Given the description of an element on the screen output the (x, y) to click on. 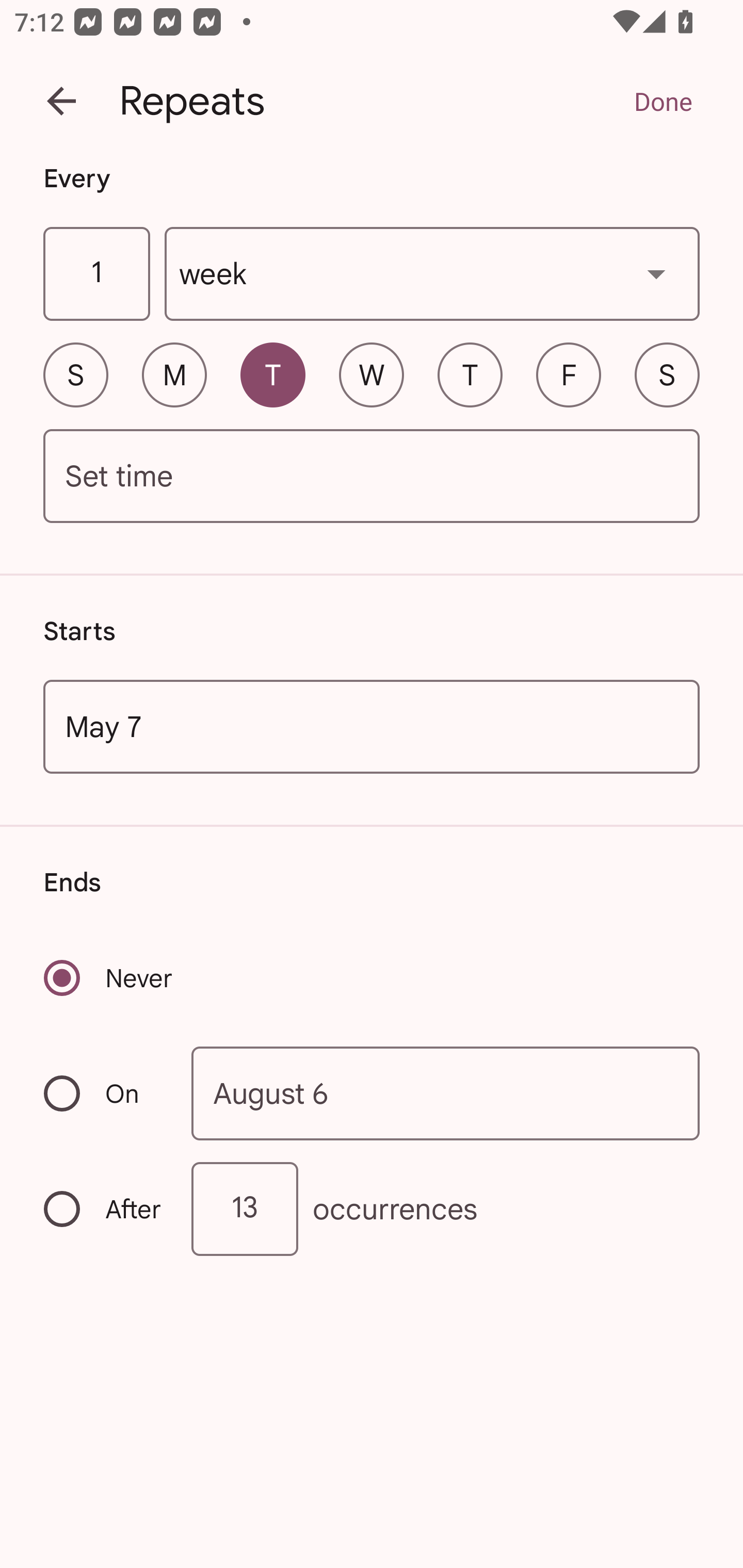
Back (61, 101)
Done (663, 101)
1 (96, 274)
week (431, 274)
Show dropdown menu (655, 273)
S Sunday (75, 374)
M Monday (173, 374)
T Tuesday, selected (272, 374)
W Wednesday (371, 374)
T Thursday (469, 374)
F Friday (568, 374)
S Saturday (666, 374)
Set time (371, 476)
May 7 (371, 726)
Never Recurrence never ends (109, 978)
August 6 (445, 1092)
On Recurrence ends on a specific date (104, 1093)
13 (244, 1208)
